Given the description of an element on the screen output the (x, y) to click on. 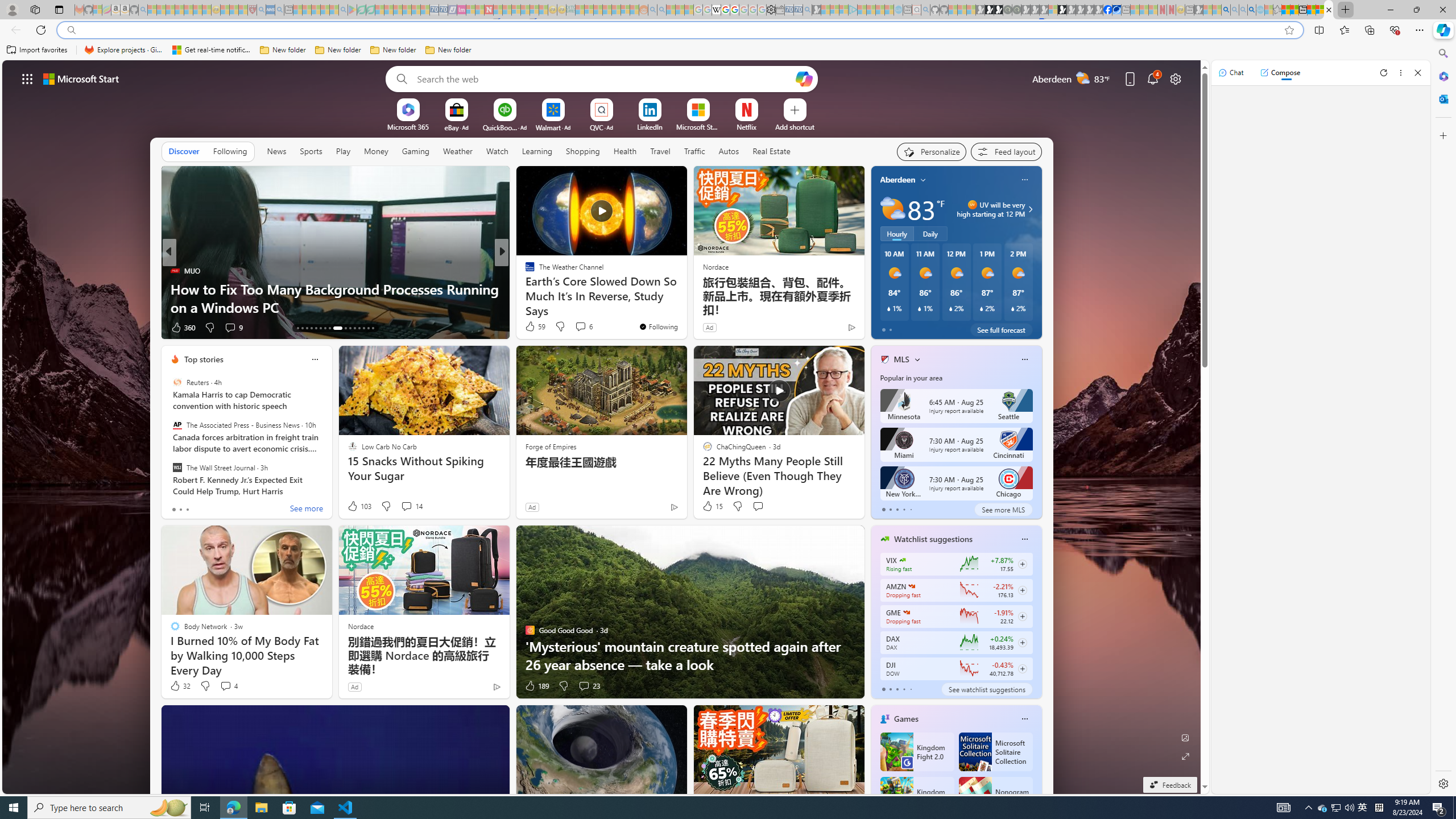
AutomationID: tab-20 (329, 328)
View comments 2 Comment (583, 327)
Watch (496, 151)
Sports (310, 151)
See full forecast (1000, 329)
AutomationID: tab-16 (311, 328)
My location (922, 179)
AutomationID: tab-19 (324, 328)
